Given the description of an element on the screen output the (x, y) to click on. 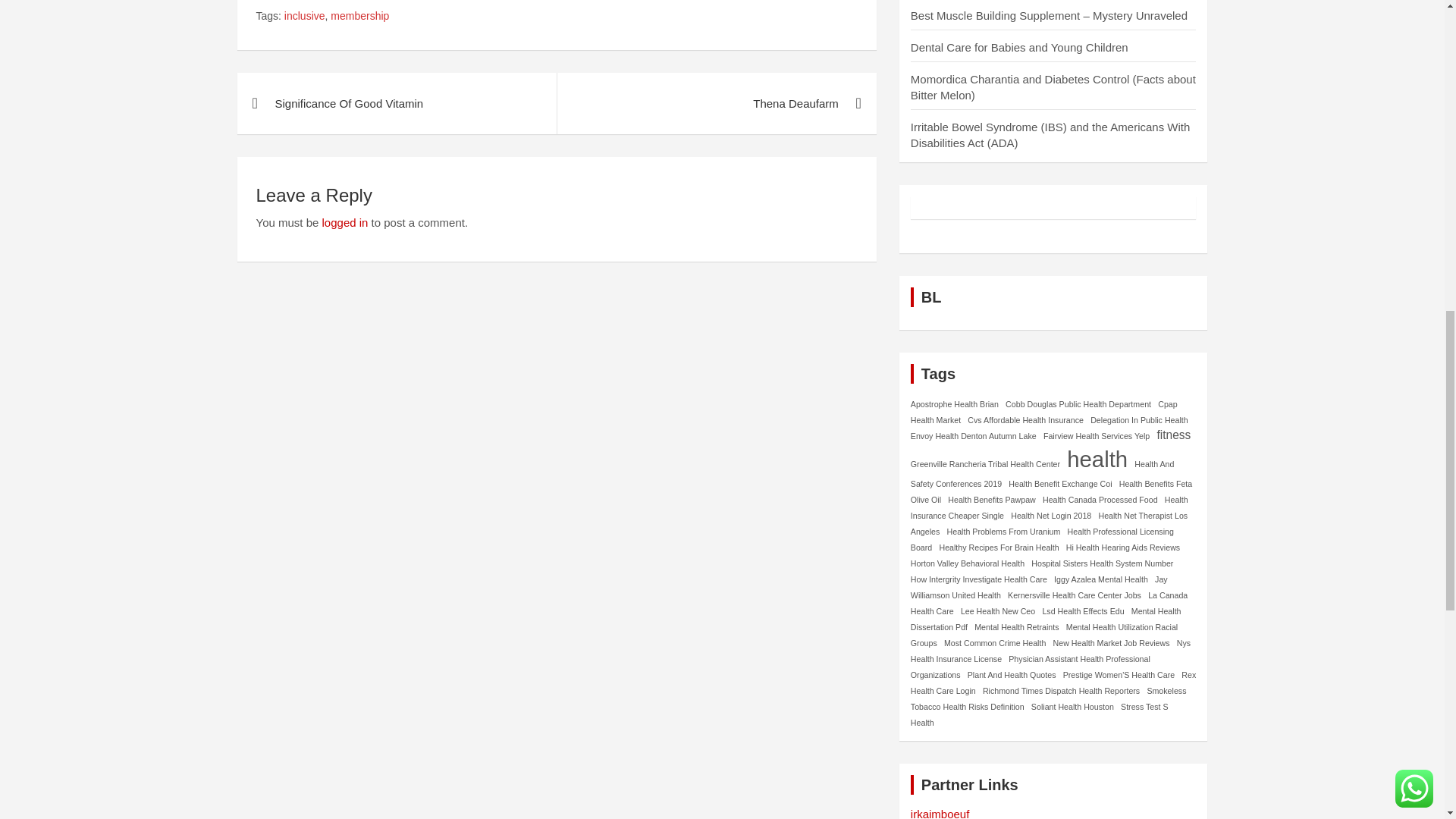
inclusive (303, 16)
Apostrophe Health Brian (954, 404)
Thena Deaufarm (716, 103)
Significance Of Good Vitamin (395, 103)
Dental Care for Babies and Young Children (1019, 47)
membership (359, 16)
logged in (344, 222)
